Given the description of an element on the screen output the (x, y) to click on. 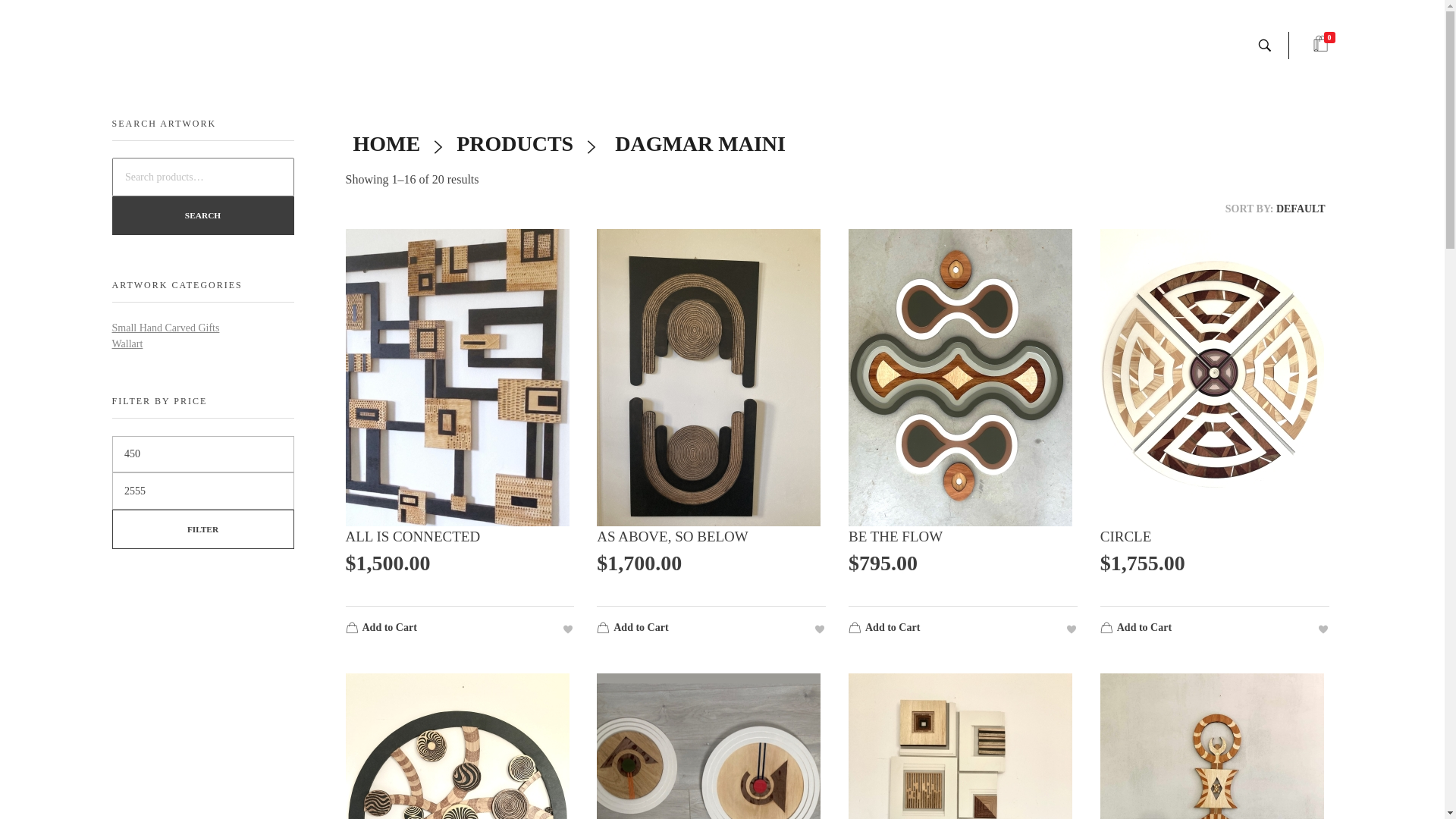
PRODUCTS Element type: text (514, 143)
Add to Cart Element type: text (1197, 628)
AS ABOVE, SO BELOW Element type: text (710, 550)
BE THE FLOW Element type: text (962, 550)
Add to Cart Element type: text (694, 628)
CIRCLE Element type: text (1214, 550)
ALL IS CONNECTED Element type: text (459, 550)
SEARCH Element type: text (203, 215)
Wallart Element type: text (127, 343)
Add to Cart Element type: text (946, 628)
FILTER Element type: text (203, 529)
Add to Cart Element type: text (443, 628)
HOME Element type: text (386, 143)
Small Hand Carved Gifts Element type: text (165, 327)
0 Element type: text (1320, 44)
